Given the description of an element on the screen output the (x, y) to click on. 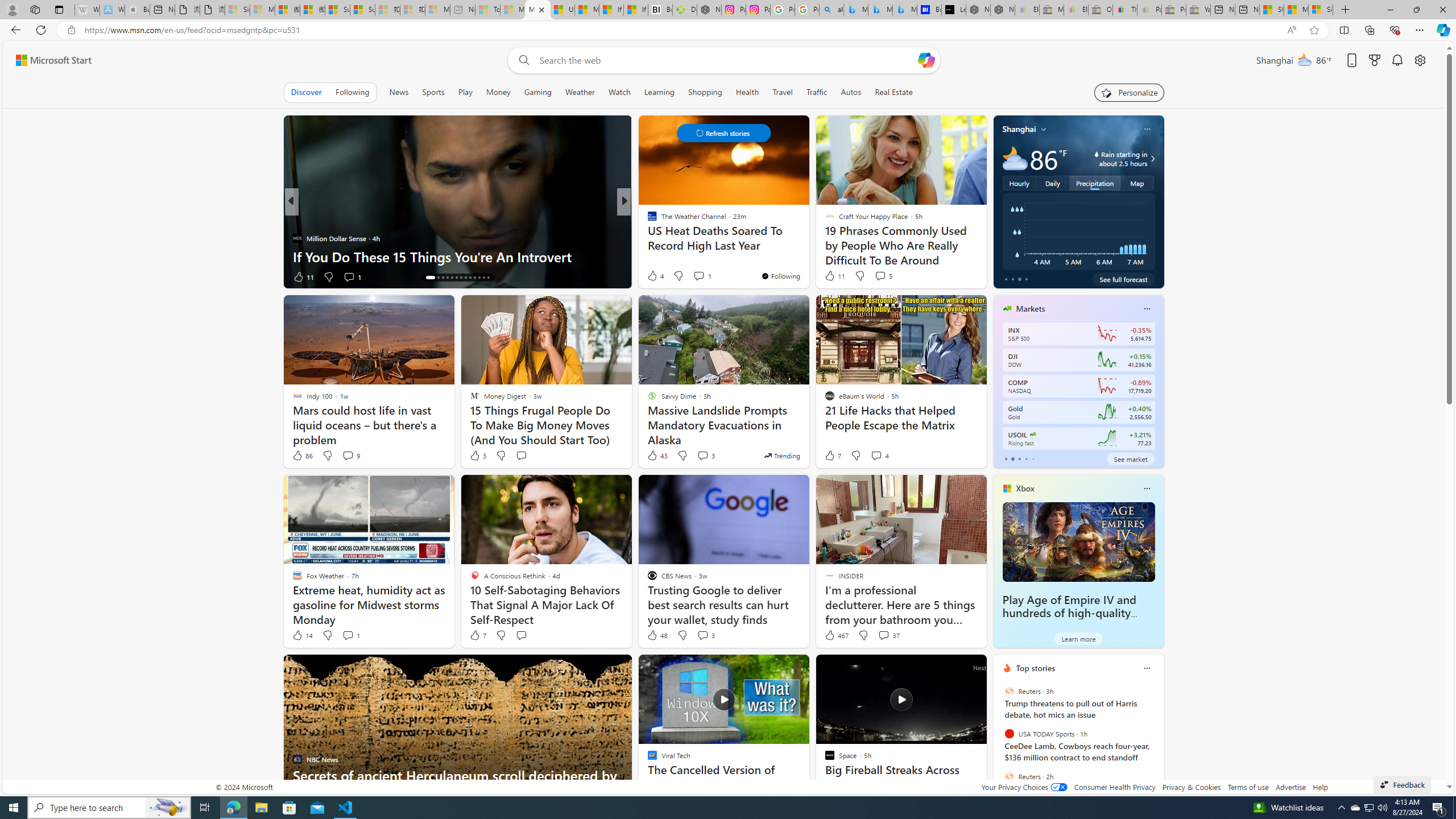
A Conscious Rethink (647, 219)
View comments 3 Comment (705, 634)
467 Like (835, 634)
86 Like (301, 455)
Reuters (1008, 775)
Learn more (1078, 638)
